Given the description of an element on the screen output the (x, y) to click on. 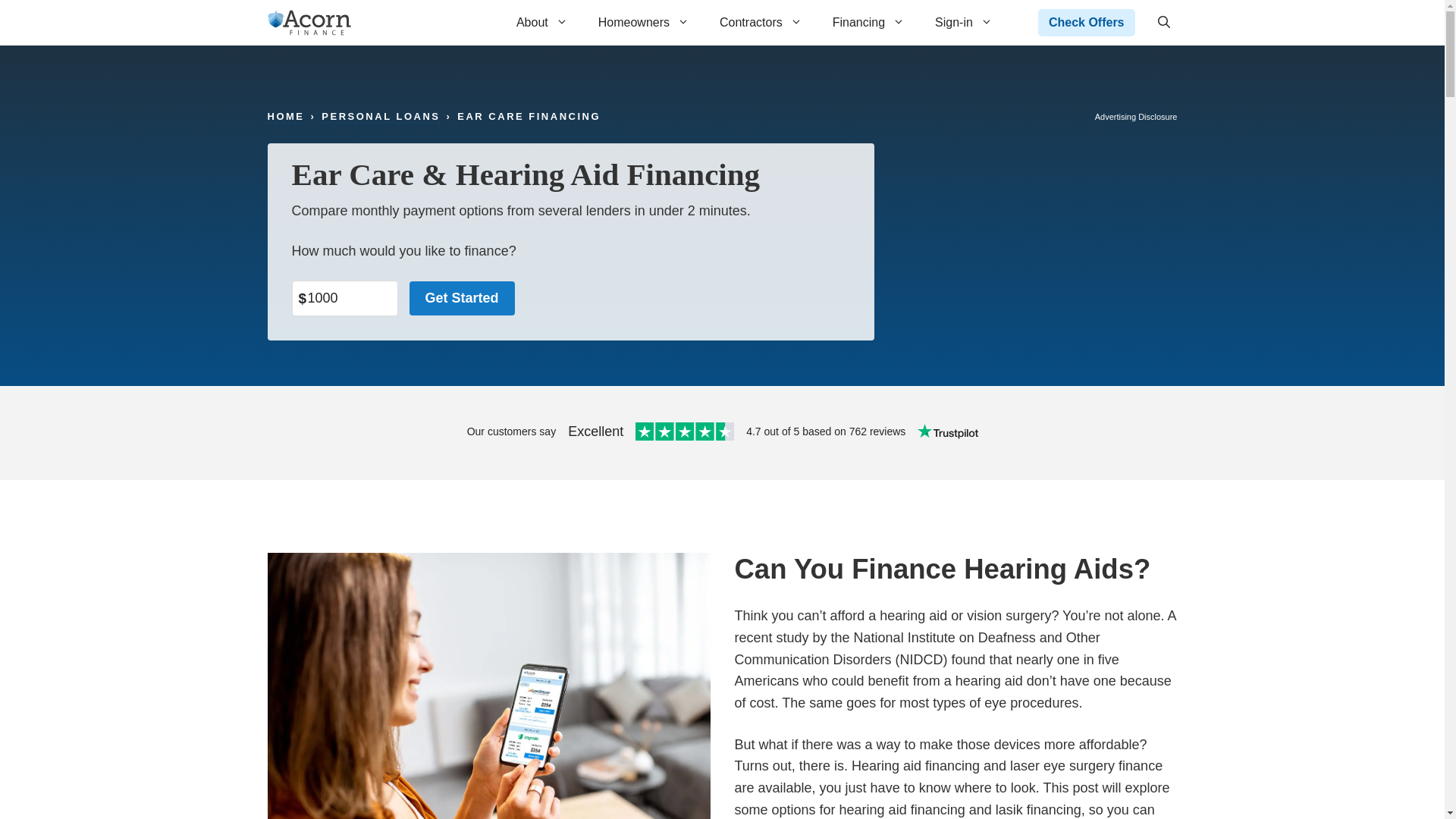
1000 (344, 298)
About (541, 22)
Customer reviews powered by Trustpilot (721, 432)
Get Started (462, 298)
Homeowners (643, 22)
